Given the description of an element on the screen output the (x, y) to click on. 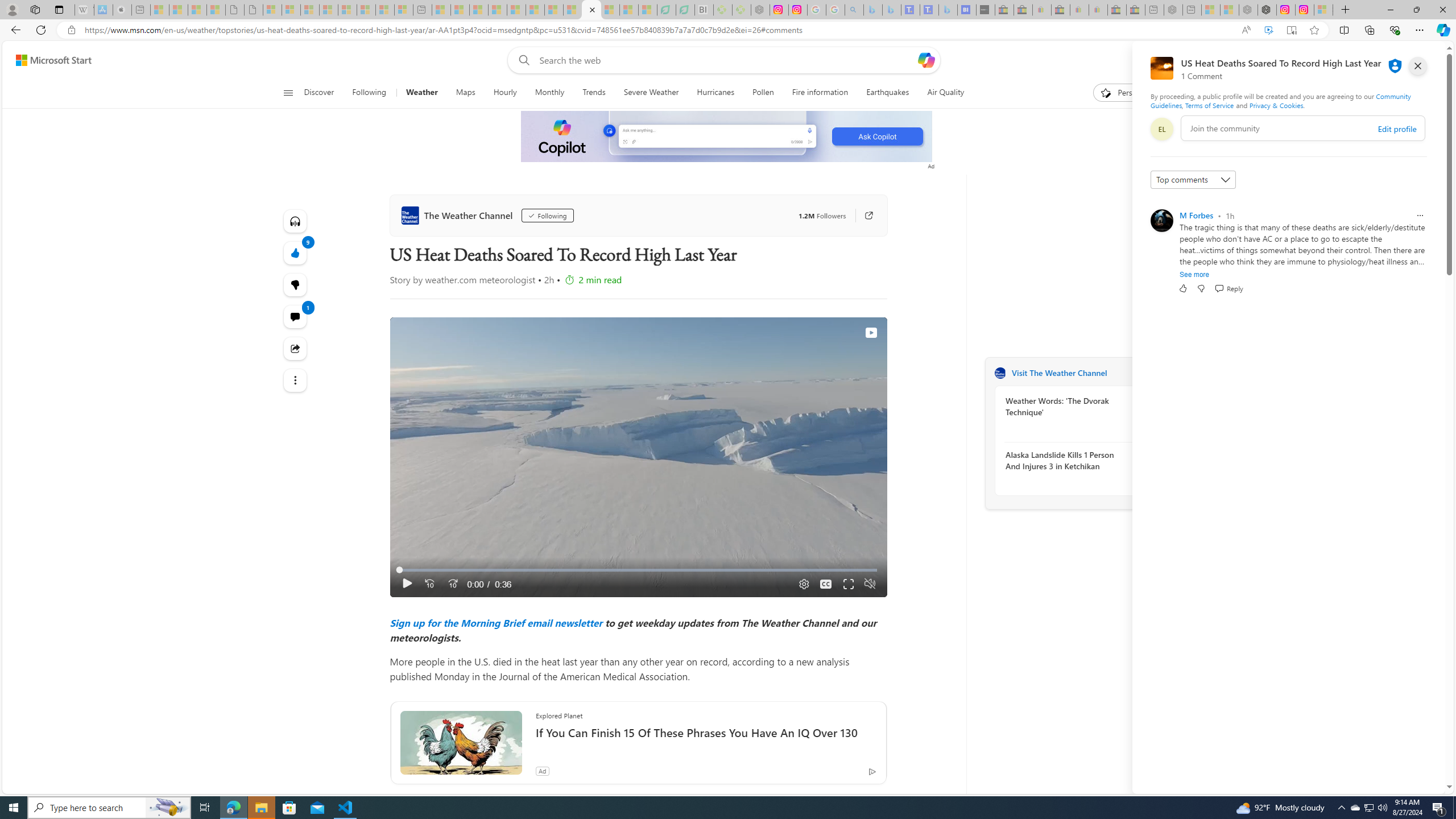
Hourly (504, 92)
Top Stories - MSN - Sleeping (440, 9)
View on Watch (870, 332)
Buy iPad - Apple - Sleeping (121, 9)
alabama high school quarterback dies - Search - Sleeping (853, 9)
Trends (593, 92)
Earthquakes (887, 92)
